Given the description of an element on the screen output the (x, y) to click on. 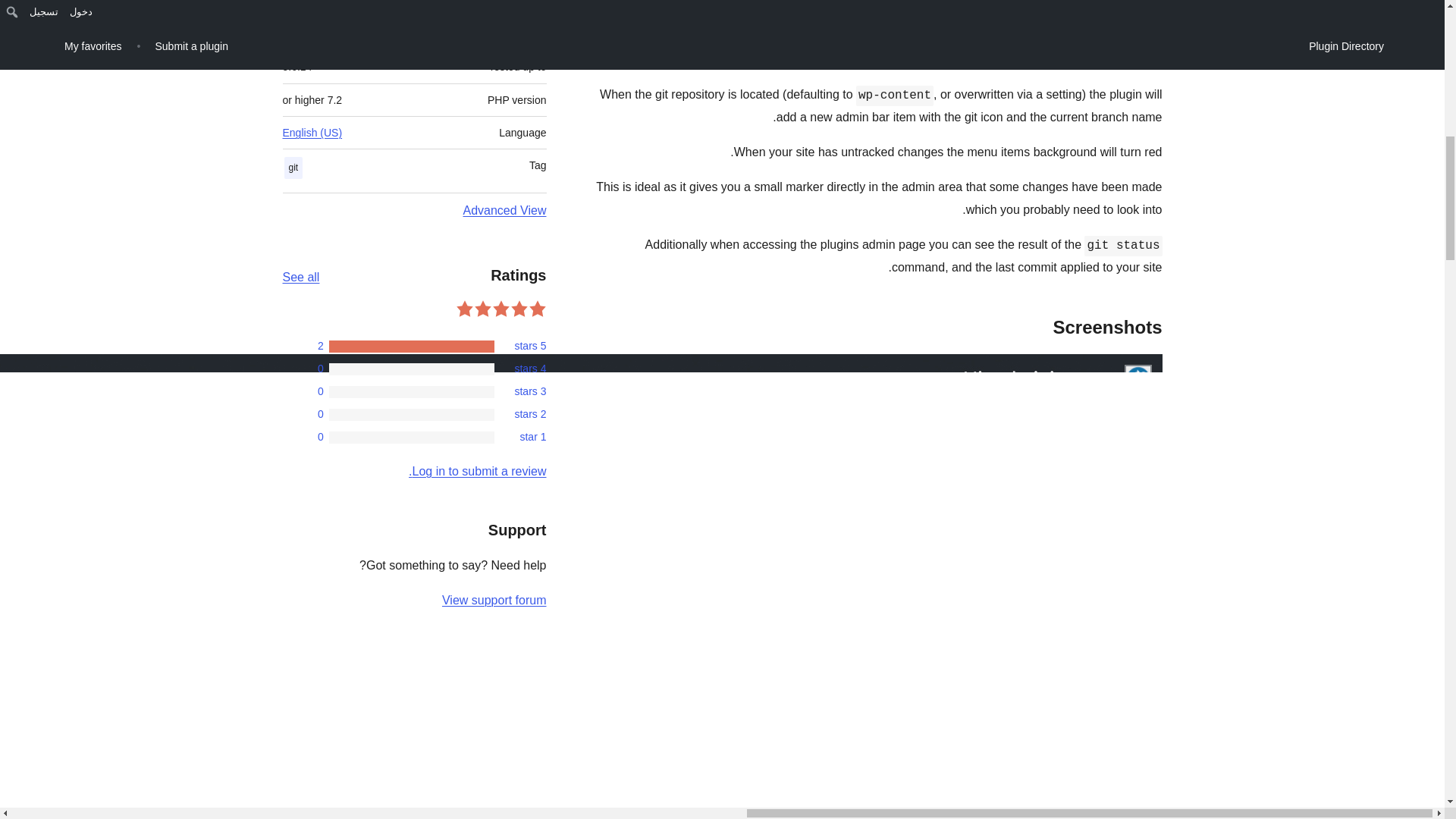
Log in to WordPress.org (477, 471)
